Given the description of an element on the screen output the (x, y) to click on. 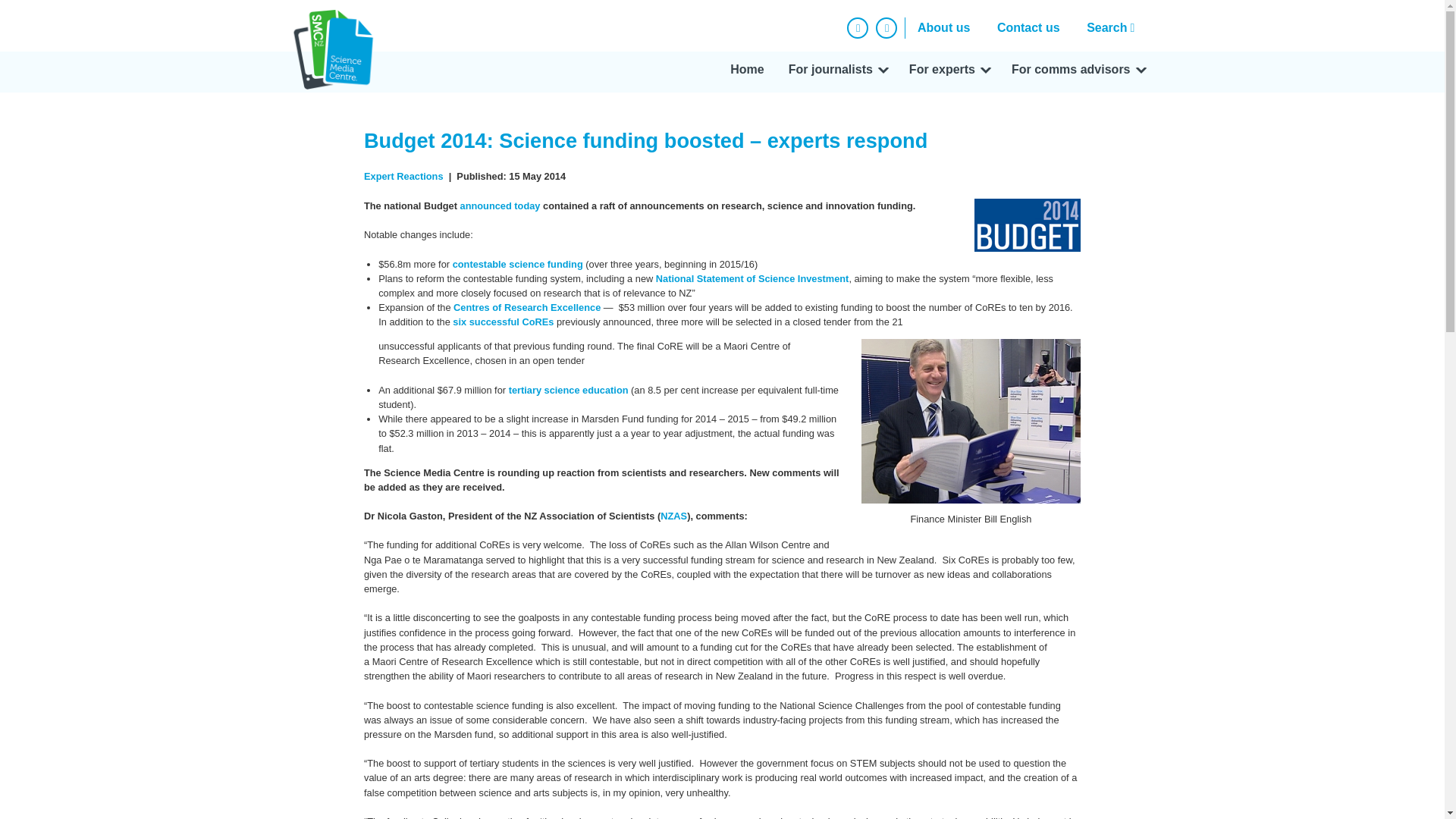
Search (1114, 27)
For journalists (836, 71)
For experts (947, 71)
Contact us (1028, 27)
Facebook (857, 27)
For comms advisors (1076, 71)
Home (746, 71)
About us (943, 27)
Twitter (886, 27)
